Given the description of an element on the screen output the (x, y) to click on. 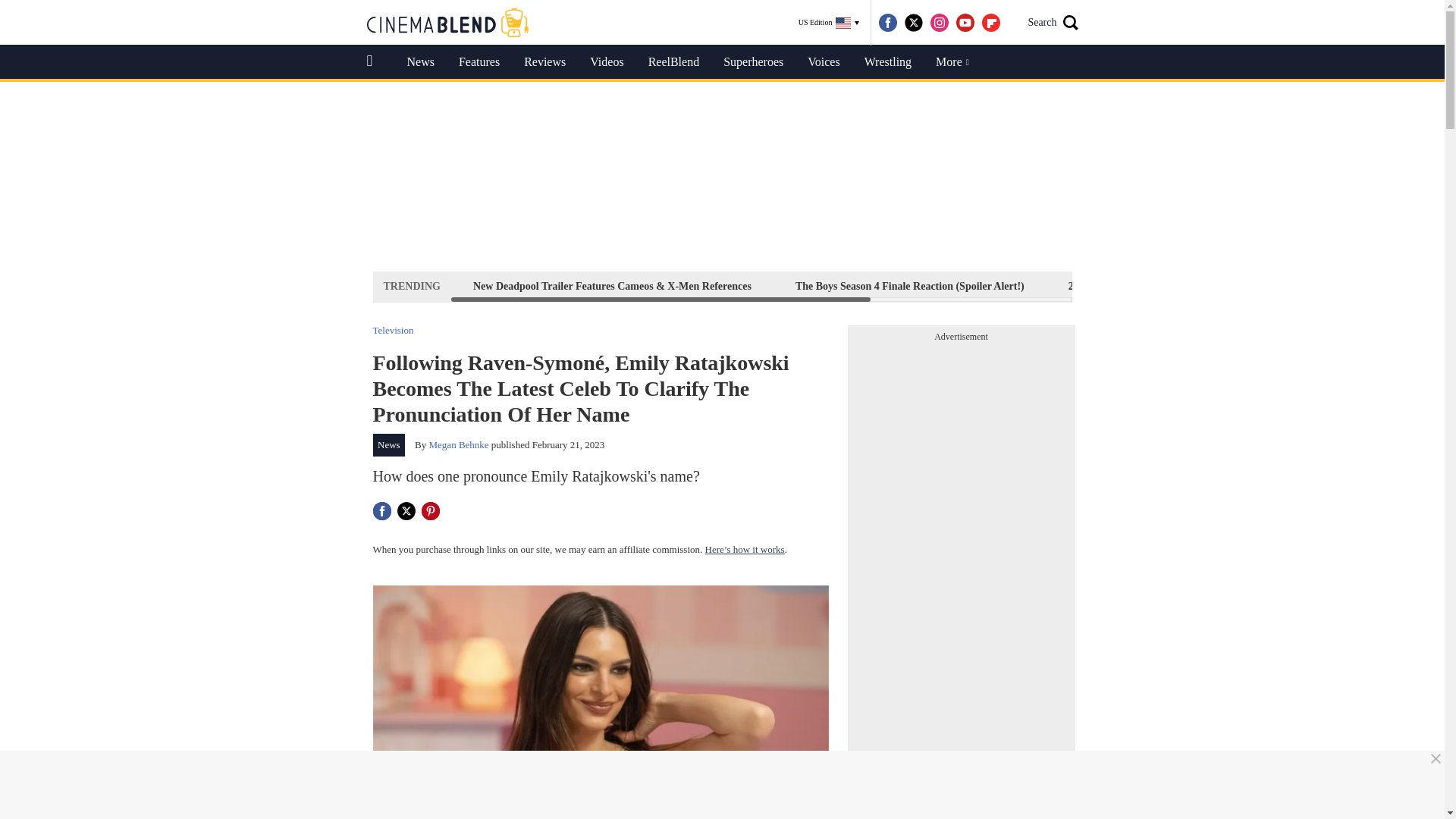
Television (392, 329)
Videos (606, 61)
ReelBlend (673, 61)
Superheroes (752, 61)
Wrestling (887, 61)
100 Best Sitcoms Of All Time (1283, 286)
Features (479, 61)
2024 Upcoming Movies (1120, 286)
Reviews (545, 61)
Voices (822, 61)
News (389, 445)
